Given the description of an element on the screen output the (x, y) to click on. 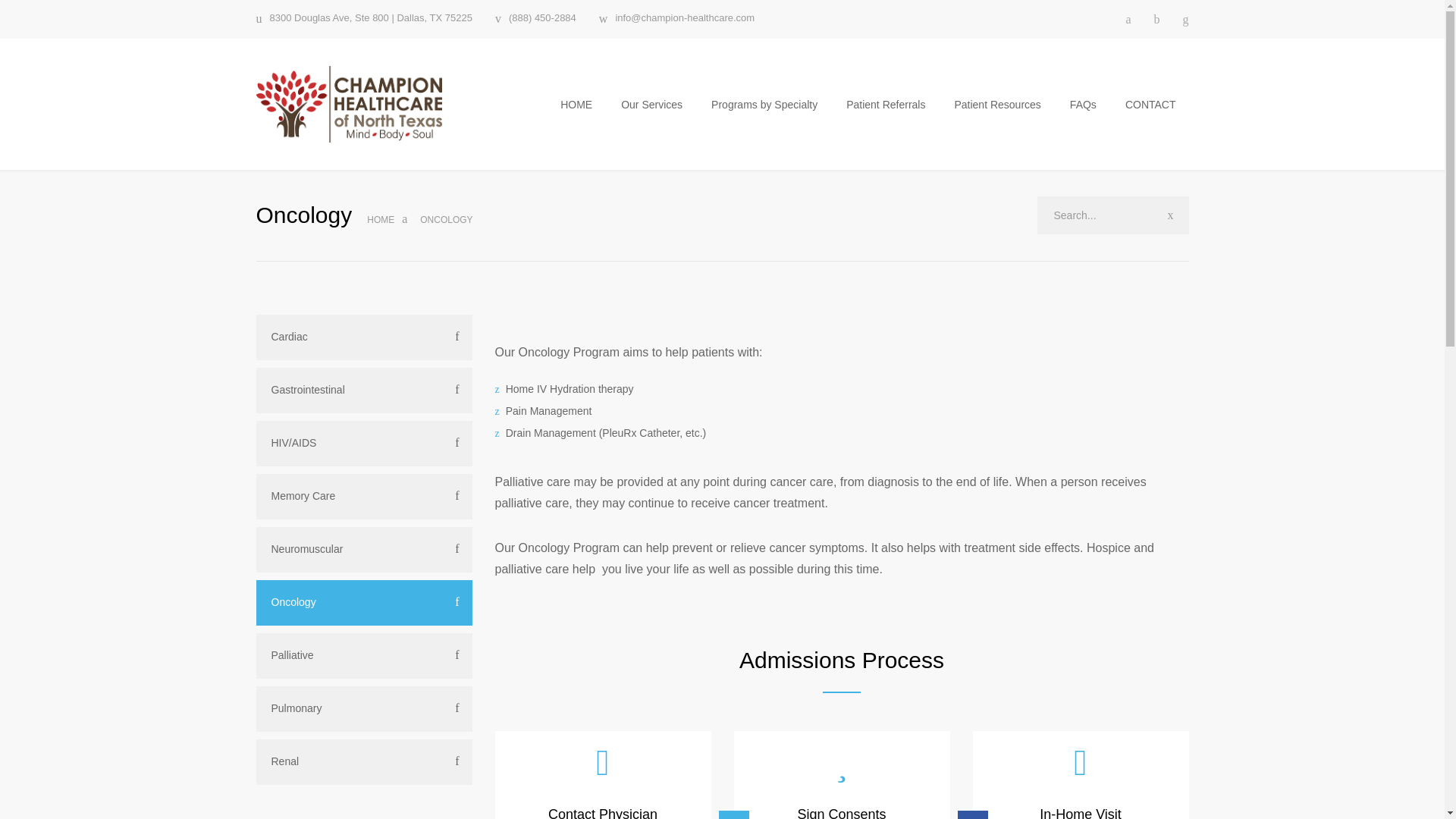
HOME (576, 104)
Patient Referrals (885, 104)
Cardiac (363, 337)
Home (380, 219)
Oncology (363, 602)
Memory Care (363, 496)
HOME (380, 219)
Patient Resources (997, 104)
Renal (363, 761)
Search... (1112, 215)
Gastrointestinal (363, 390)
Palliative (363, 655)
FAQs (1083, 104)
Programs by Specialty (763, 104)
Our Services (651, 104)
